Given the description of an element on the screen output the (x, y) to click on. 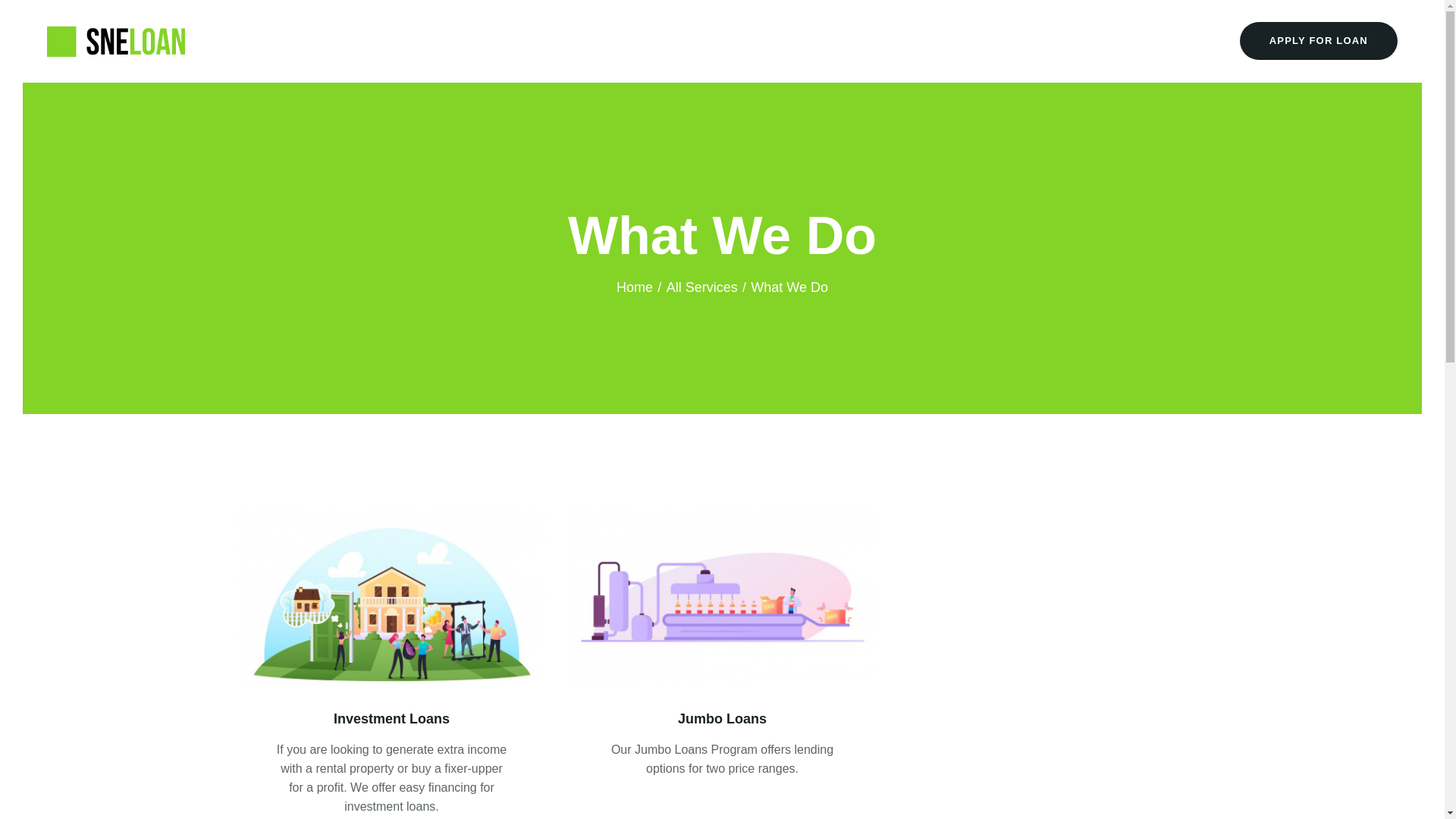
Home (633, 287)
Jumbo Loans (722, 719)
APPLY FOR LOAN (1318, 40)
All Services (702, 287)
Investment Loans (392, 719)
